Given the description of an element on the screen output the (x, y) to click on. 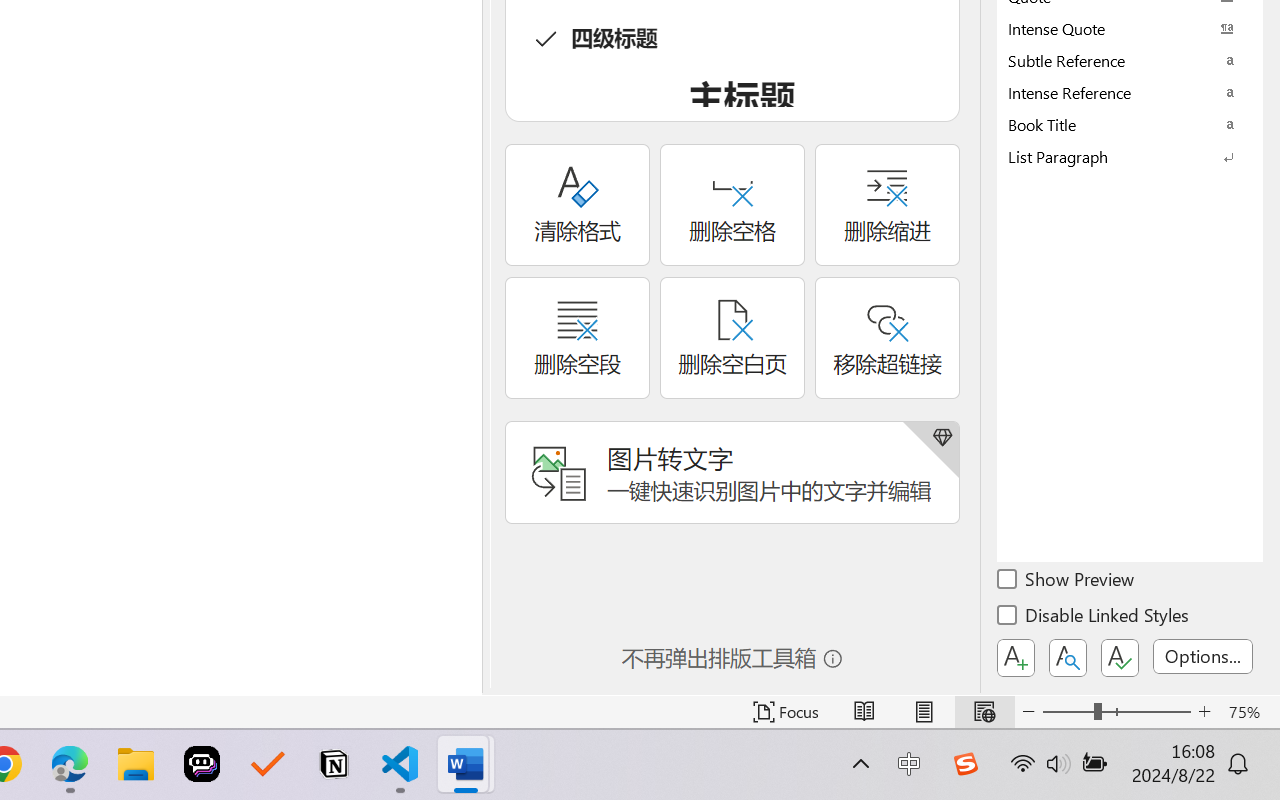
Class: Image (965, 764)
Subtle Reference (1130, 60)
Class: NetUIImage (1116, 156)
Read Mode (864, 712)
List Paragraph (1130, 156)
Notion (333, 764)
Zoom (1116, 712)
Intense Reference (1130, 92)
